Given the description of an element on the screen output the (x, y) to click on. 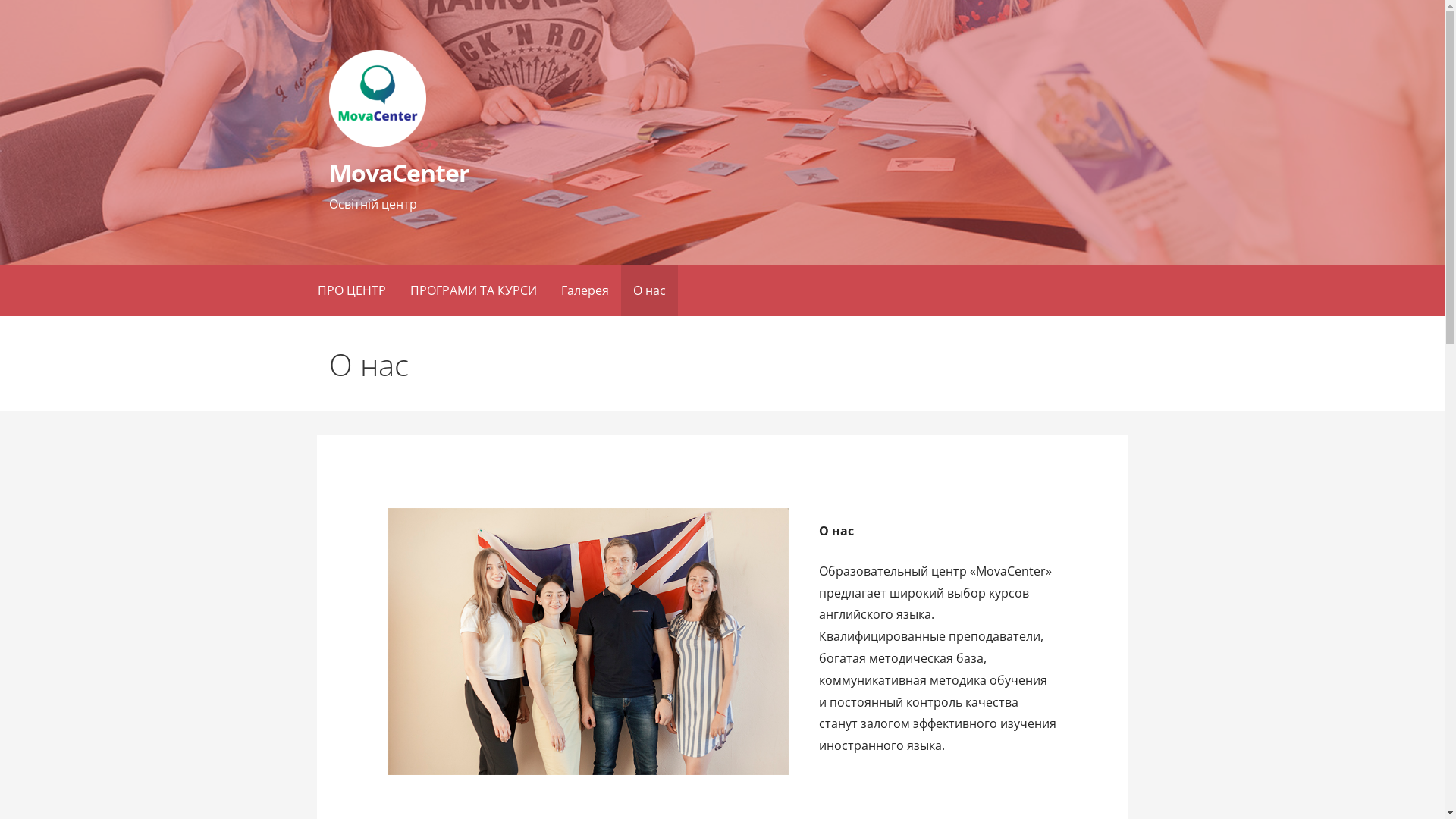
team-mova-staff.jpg Element type: hover (588, 641)
MovaCenter Element type: text (399, 172)
